Given the description of an element on the screen output the (x, y) to click on. 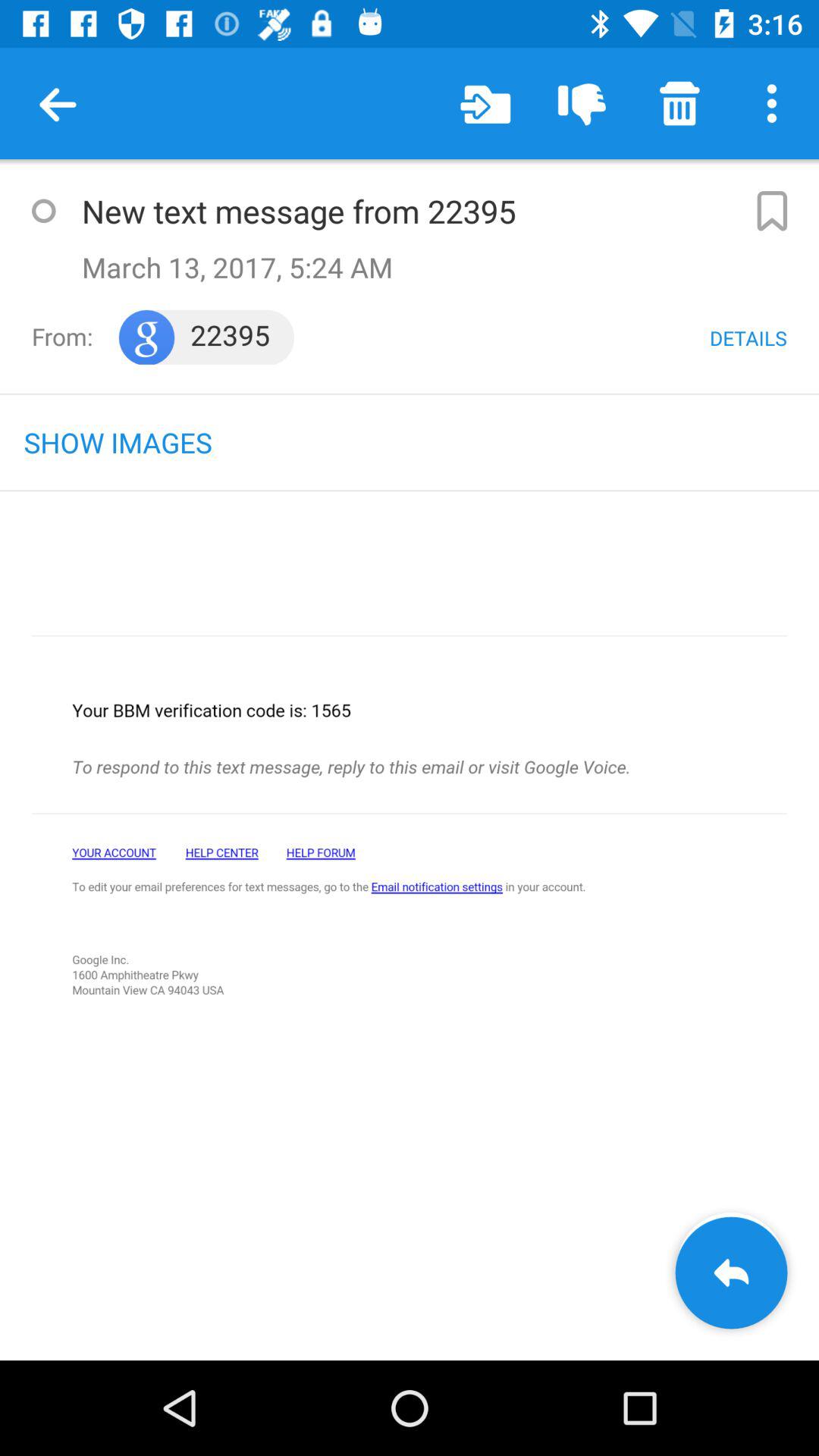
go back (731, 1272)
